Given the description of an element on the screen output the (x, y) to click on. 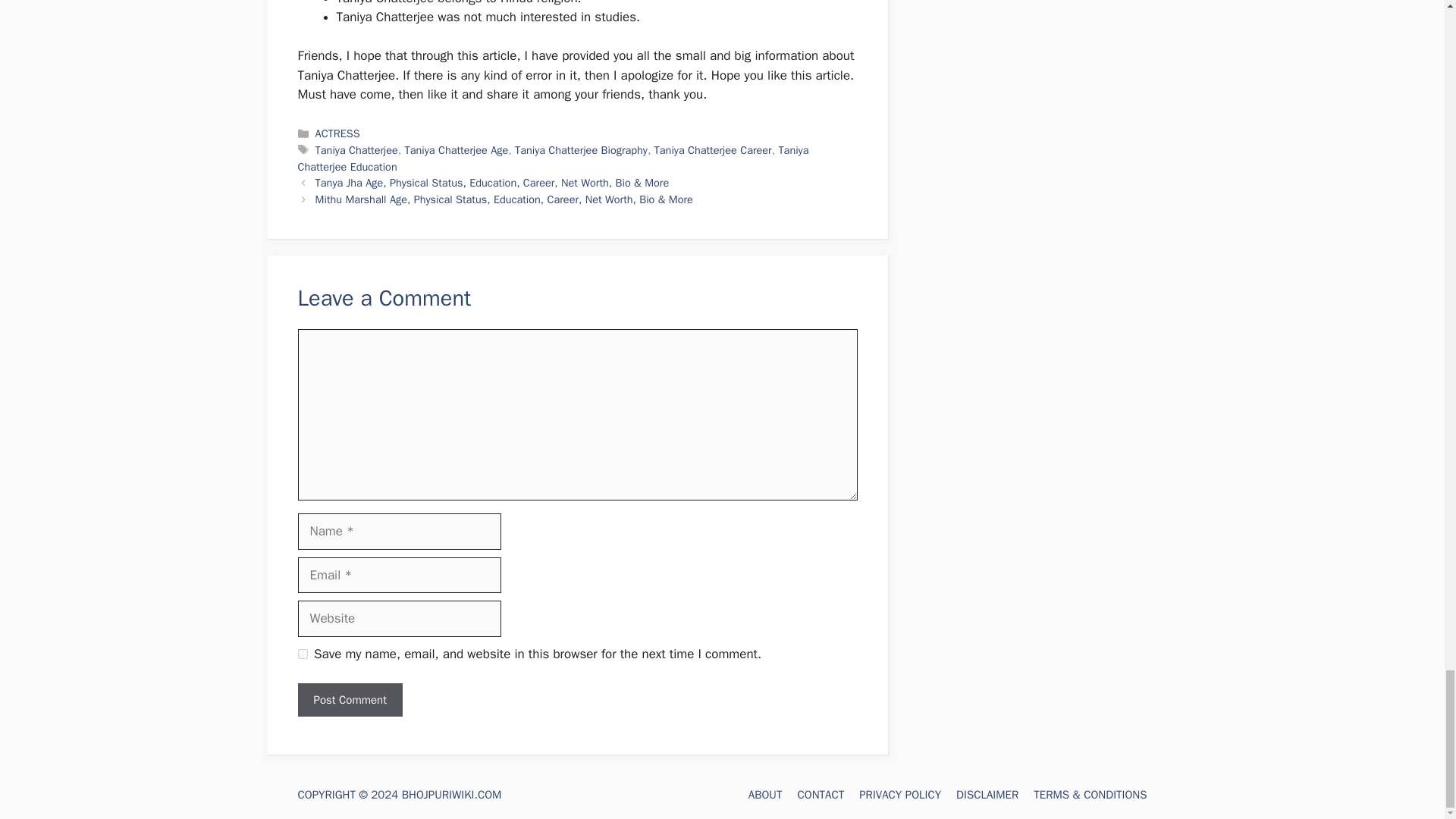
Taniya Chatterjee Career (712, 150)
yes (302, 654)
Taniya Chatterjee (356, 150)
Taniya Chatterjee Biography (581, 150)
Post Comment (349, 700)
Taniya Chatterjee Education (552, 158)
ABOUT (765, 794)
ACTRESS (337, 133)
Post Comment (349, 700)
Taniya Chatterjee Age (456, 150)
